Given the description of an element on the screen output the (x, y) to click on. 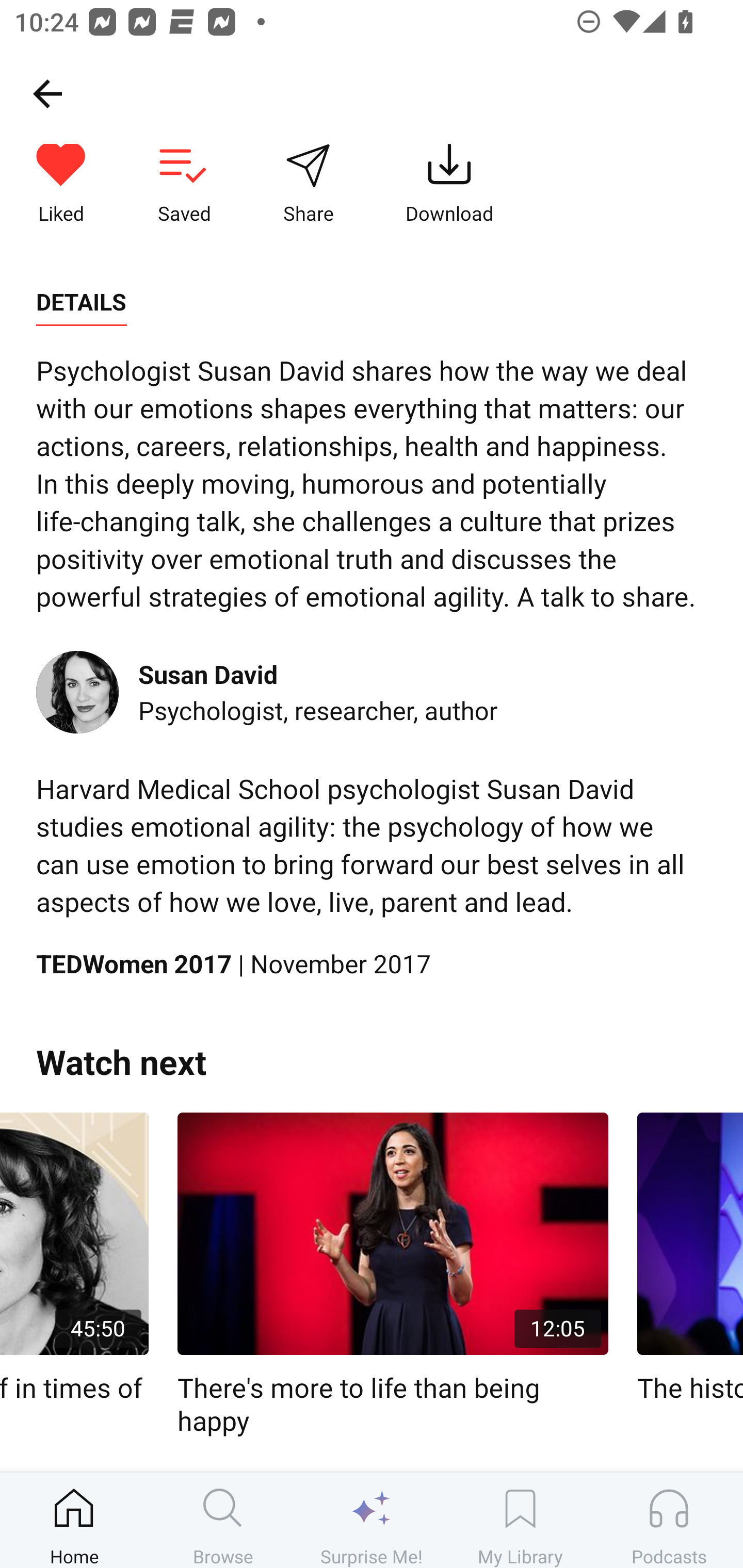
Home, back (47, 92)
Liked (60, 184)
Saved (183, 184)
Share (308, 184)
Download (449, 184)
DETAILS (80, 302)
12:05 There's more to life than being happy (392, 1275)
Home (74, 1520)
Browse (222, 1520)
Surprise Me! (371, 1520)
My Library (519, 1520)
Podcasts (668, 1520)
